Given the description of an element on the screen output the (x, y) to click on. 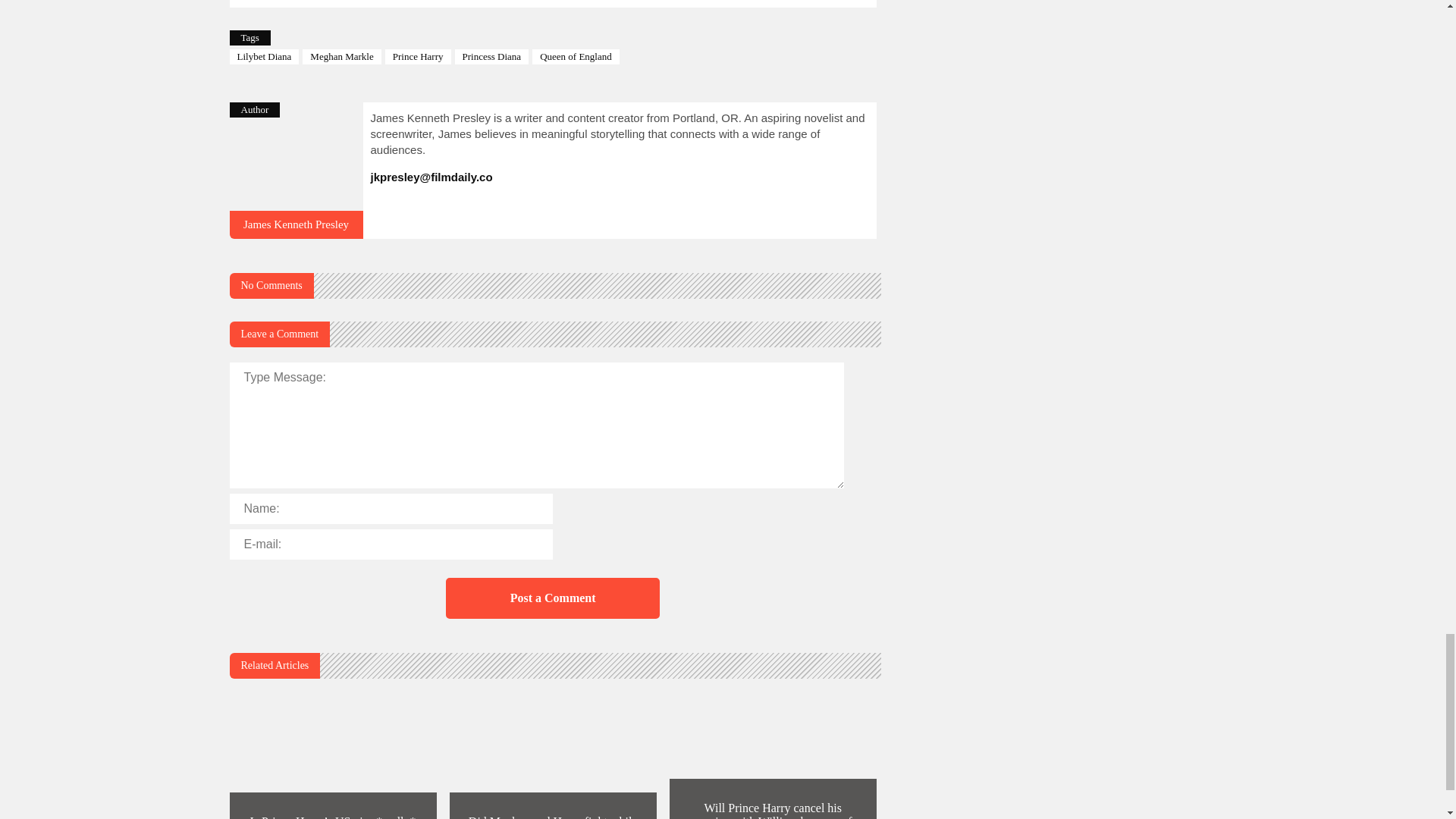
Post a Comment (552, 598)
